Given the description of an element on the screen output the (x, y) to click on. 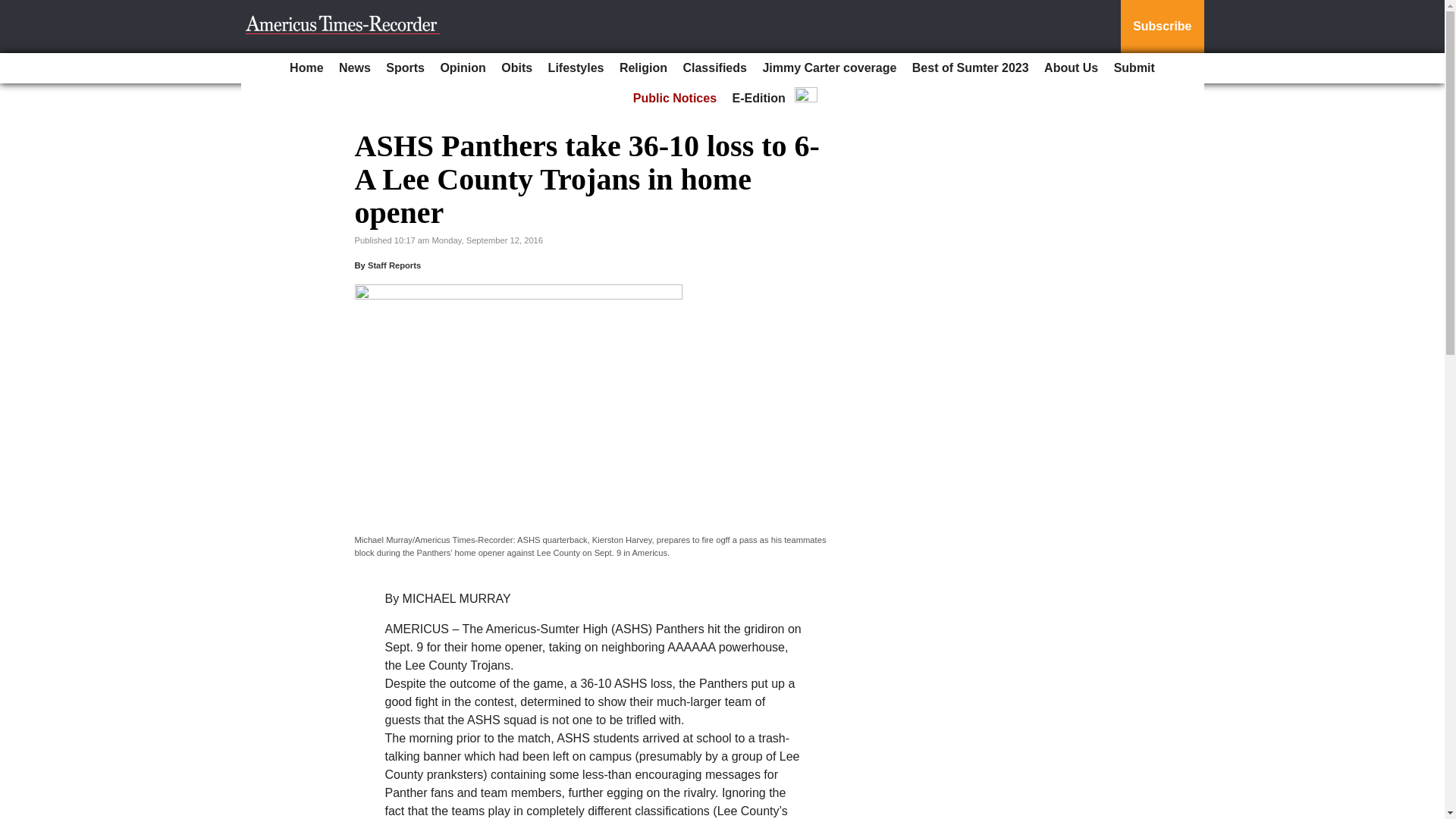
Opinion (462, 68)
Sports (405, 68)
Best of Sumter 2023 (970, 68)
Obits (516, 68)
News (355, 68)
E-Edition (759, 98)
Religion (642, 68)
Submit (1134, 68)
Staff Reports (394, 265)
About Us (1070, 68)
